Given the description of an element on the screen output the (x, y) to click on. 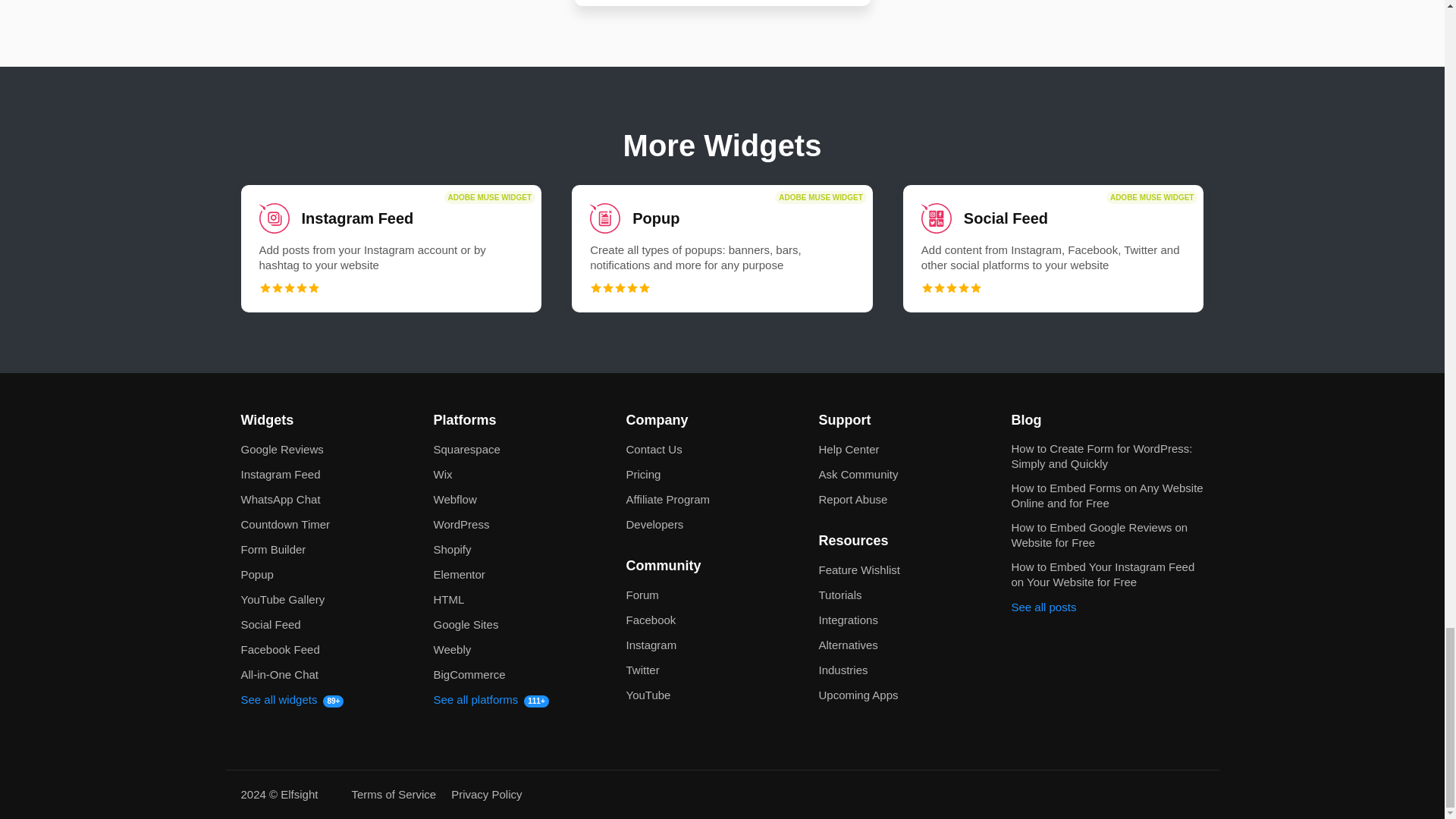
Social Feed (1053, 248)
Instagram Feed (391, 248)
Popup (722, 248)
